Given the description of an element on the screen output the (x, y) to click on. 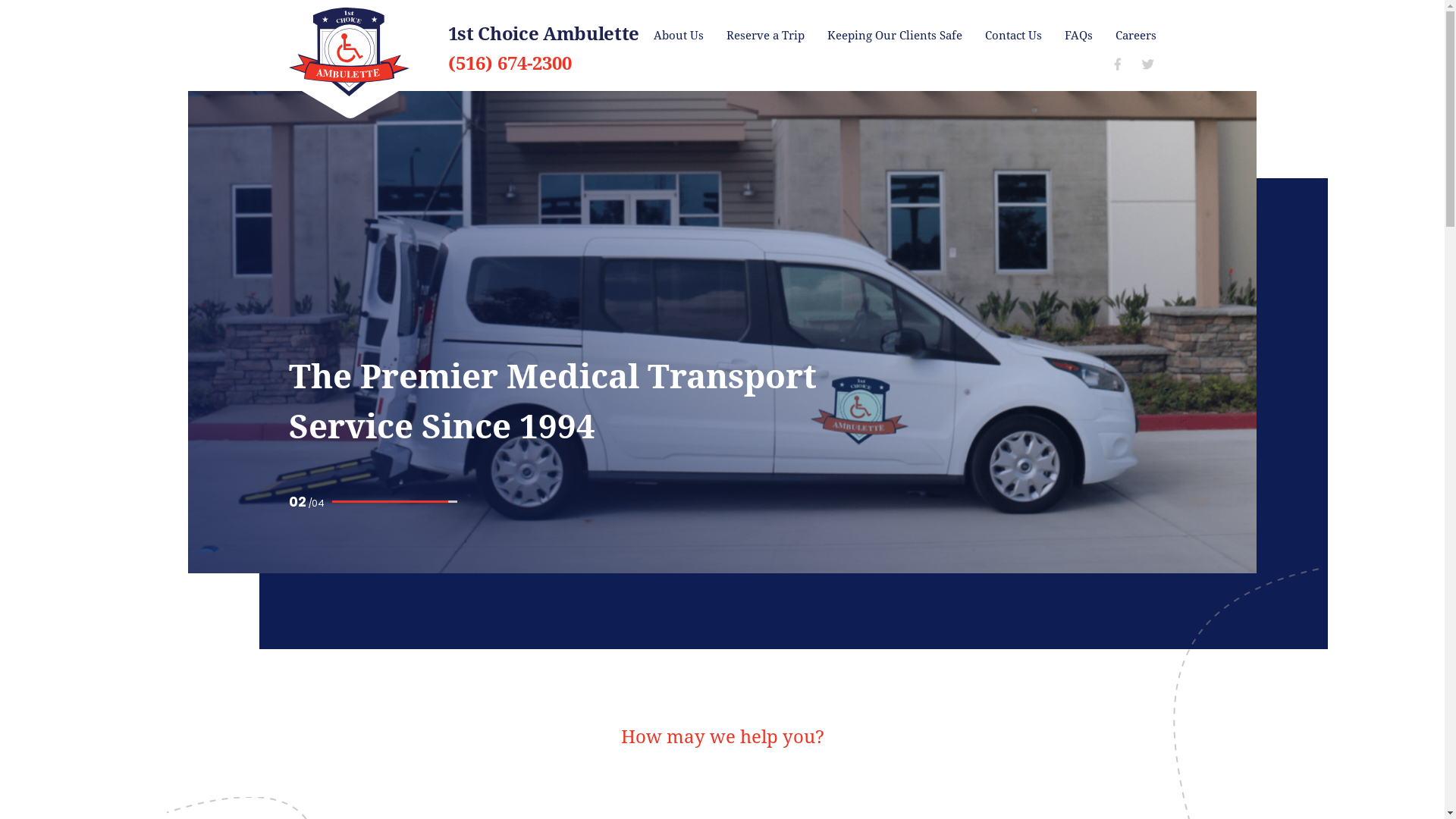
1st Choice Ambulette Element type: text (542, 32)
Reserve a Trip Element type: text (765, 34)
Contact Us Element type: text (1012, 34)
Careers Element type: text (1134, 34)
Keeping Our Clients Safe Element type: text (893, 34)
About Us Element type: text (678, 34)
FAQs Element type: text (1078, 34)
